Given the description of an element on the screen output the (x, y) to click on. 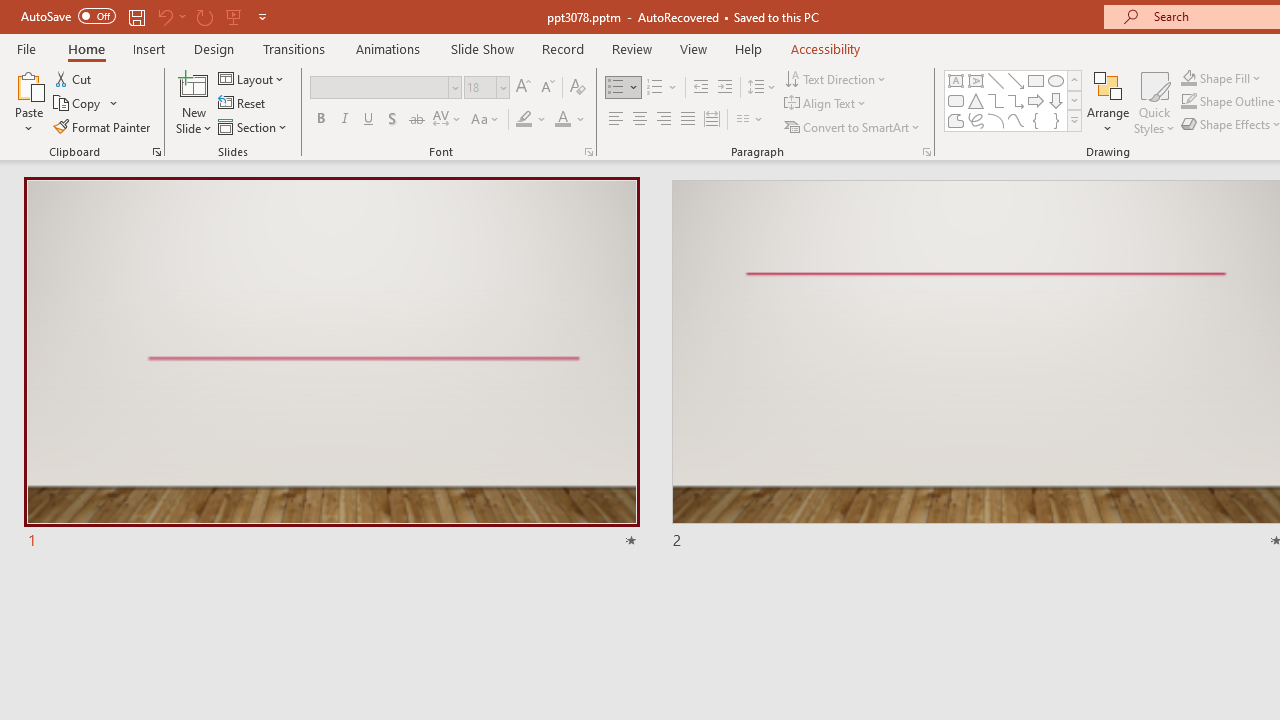
Bold (320, 119)
Center (639, 119)
Convert to SmartArt (853, 126)
Align Right (663, 119)
Clear Formatting (577, 87)
Italic (344, 119)
Text Direction (836, 78)
